Given the description of an element on the screen output the (x, y) to click on. 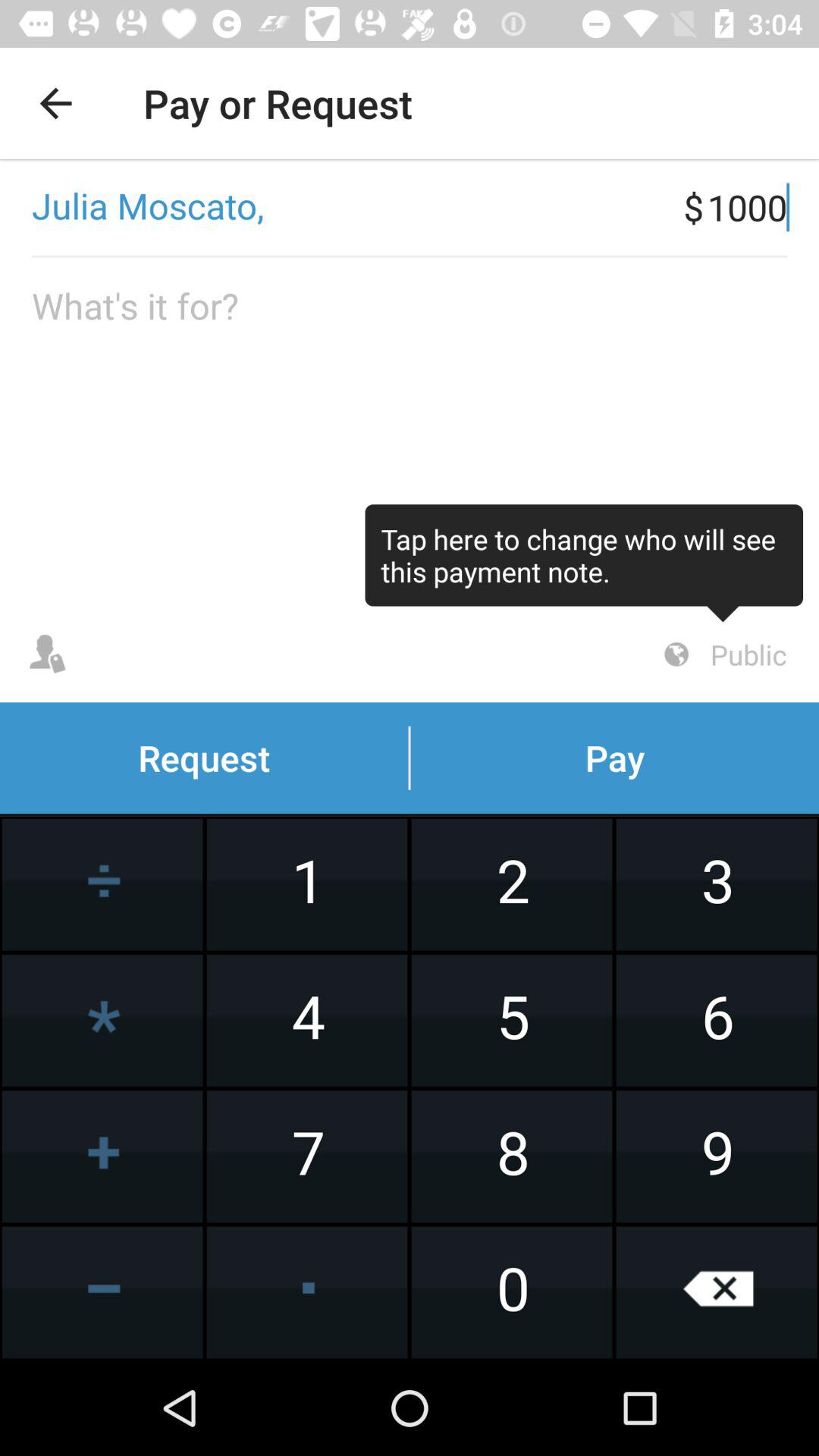
select the public item (722, 654)
